Given the description of an element on the screen output the (x, y) to click on. 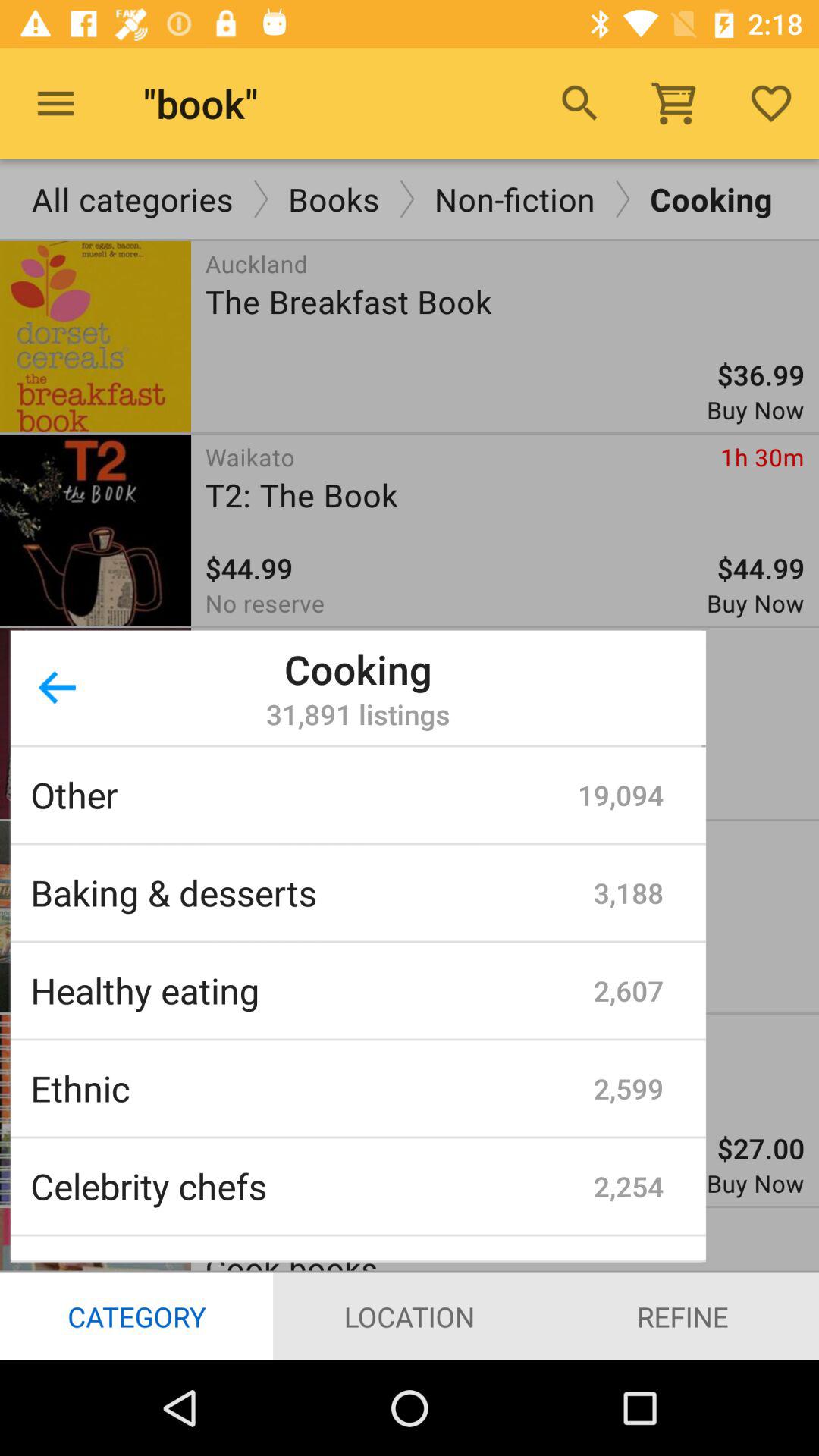
jump to the ethnic (311, 1088)
